Given the description of an element on the screen output the (x, y) to click on. 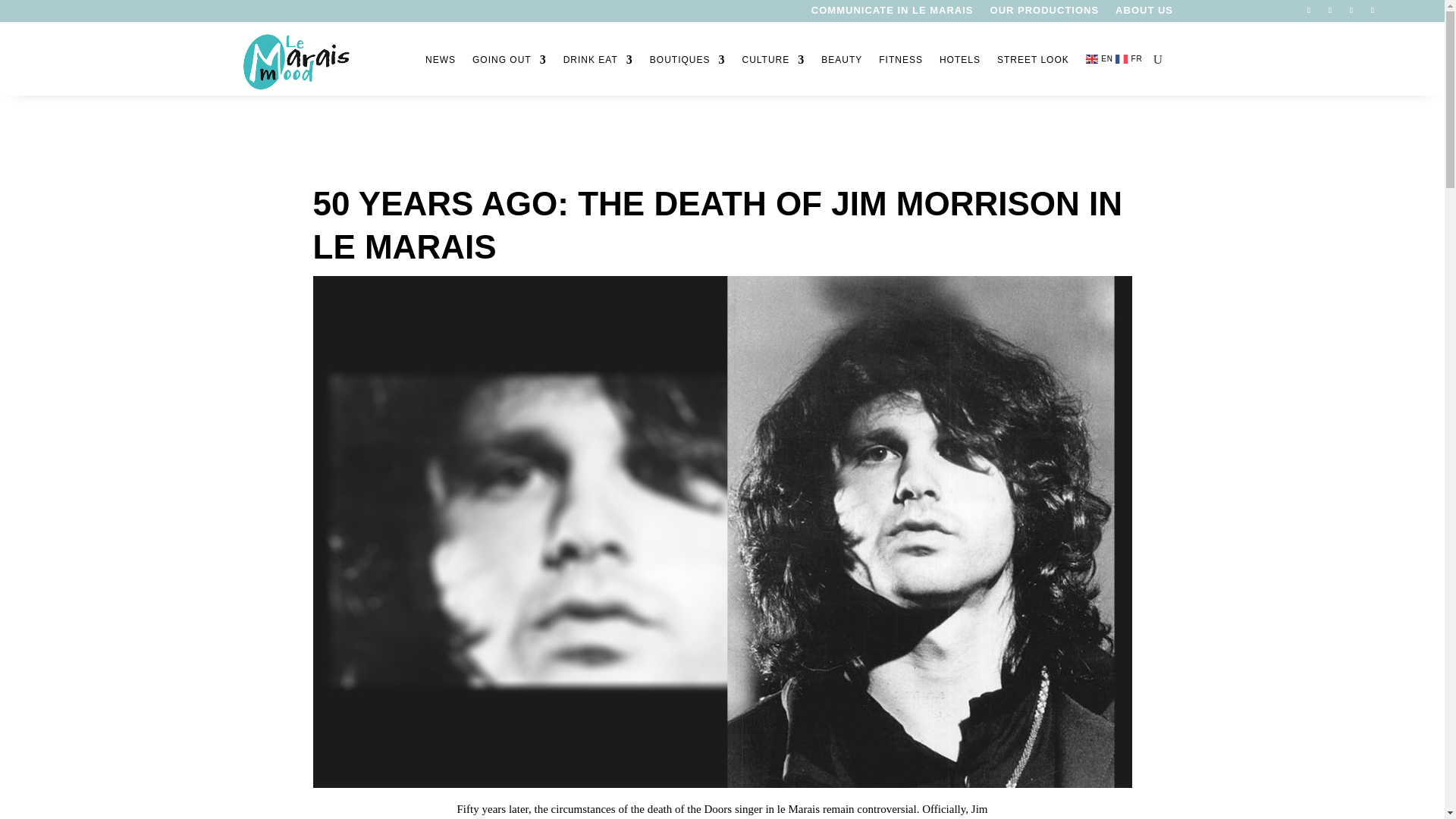
GOING OUT (509, 60)
COMMUNICATE IN LE MARAIS (892, 13)
Follow on Youtube (1350, 10)
OUR PRODUCTIONS (1044, 13)
ABOUT US (1144, 13)
DRINK EAT (598, 60)
Follow on Instagram (1330, 10)
Follow on Facebook (1308, 10)
CULTURE (773, 60)
Follow on TikTok (1372, 10)
